Given the description of an element on the screen output the (x, y) to click on. 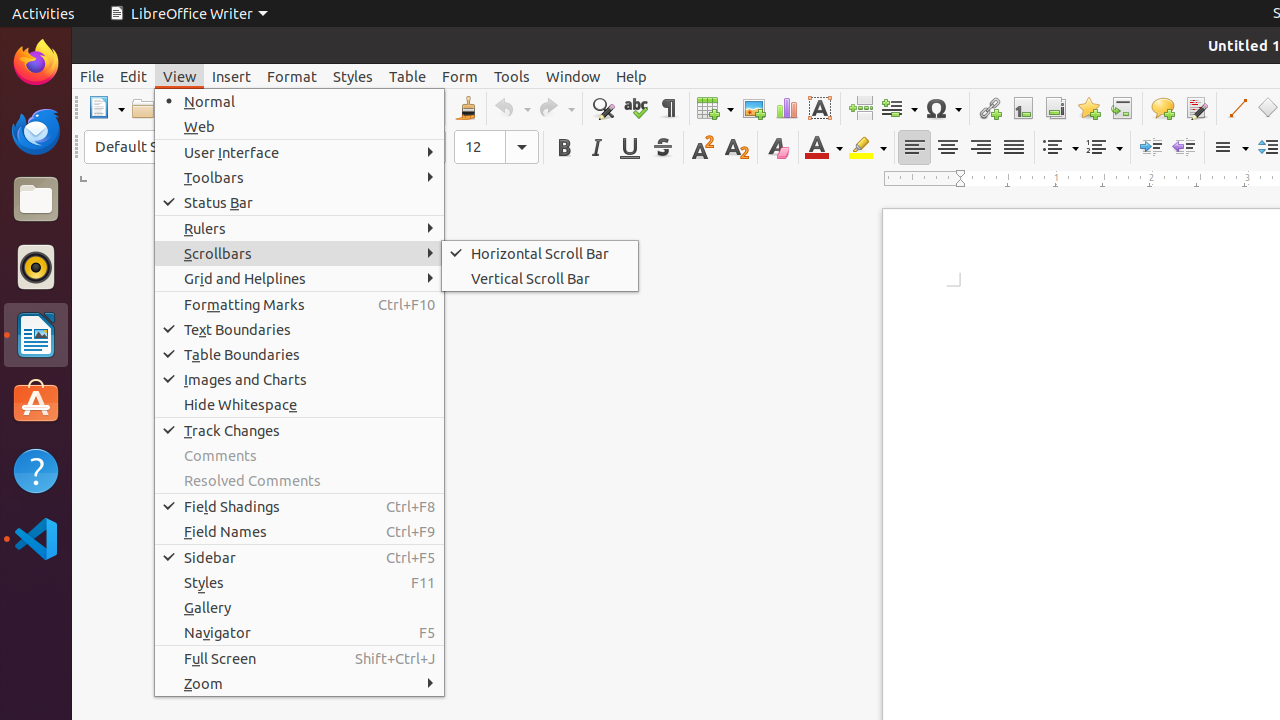
Help Element type: push-button (36, 470)
Normal Element type: radio-menu-item (299, 101)
Comments Element type: menu-item (299, 455)
Redo Element type: push-button (556, 108)
Track Changes Functions Element type: toggle-button (1195, 108)
